Given the description of an element on the screen output the (x, y) to click on. 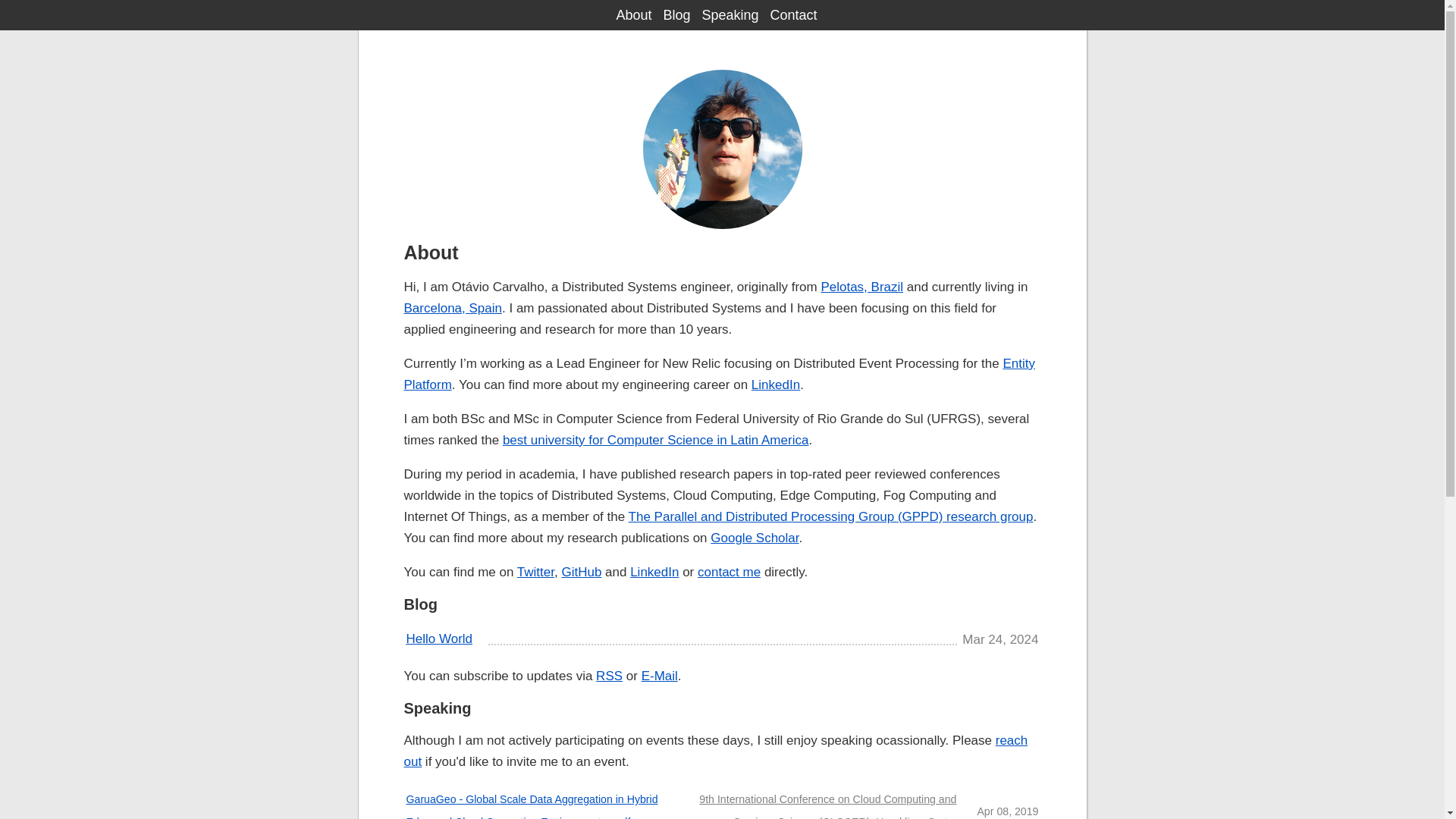
pdf (622, 817)
RSS (609, 676)
LinkedIn (654, 572)
Speaking (436, 708)
Blog (419, 604)
Entity Platform (718, 374)
About (632, 14)
best university for Computer Science in Latin America (655, 440)
GitHub (580, 572)
Speaking (729, 14)
Contact (793, 14)
E-Mail (660, 676)
Google Scholar (753, 537)
LinkedIn (775, 384)
Twitter (535, 572)
